Given the description of an element on the screen output the (x, y) to click on. 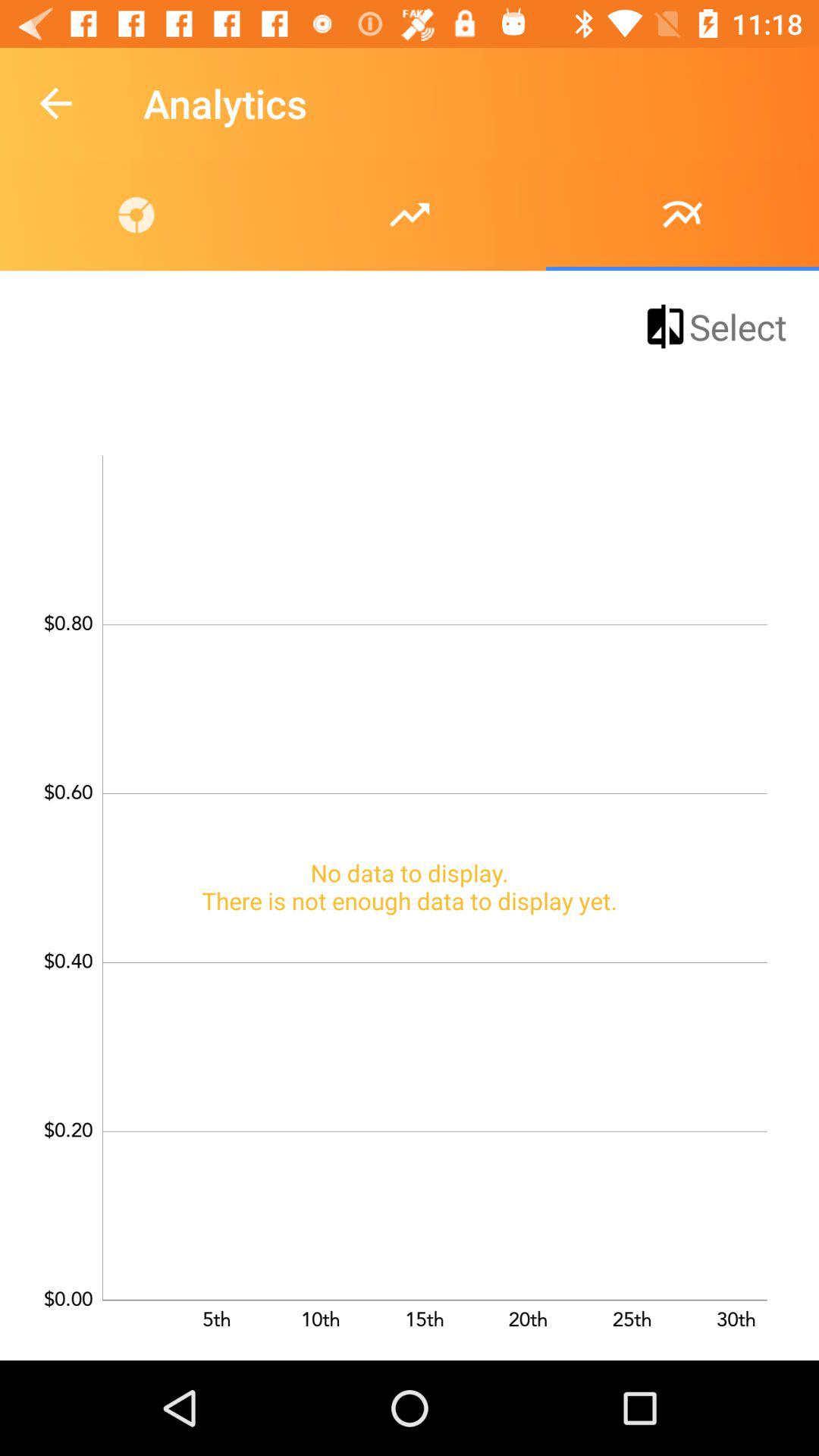
turn off select (714, 326)
